Given the description of an element on the screen output the (x, y) to click on. 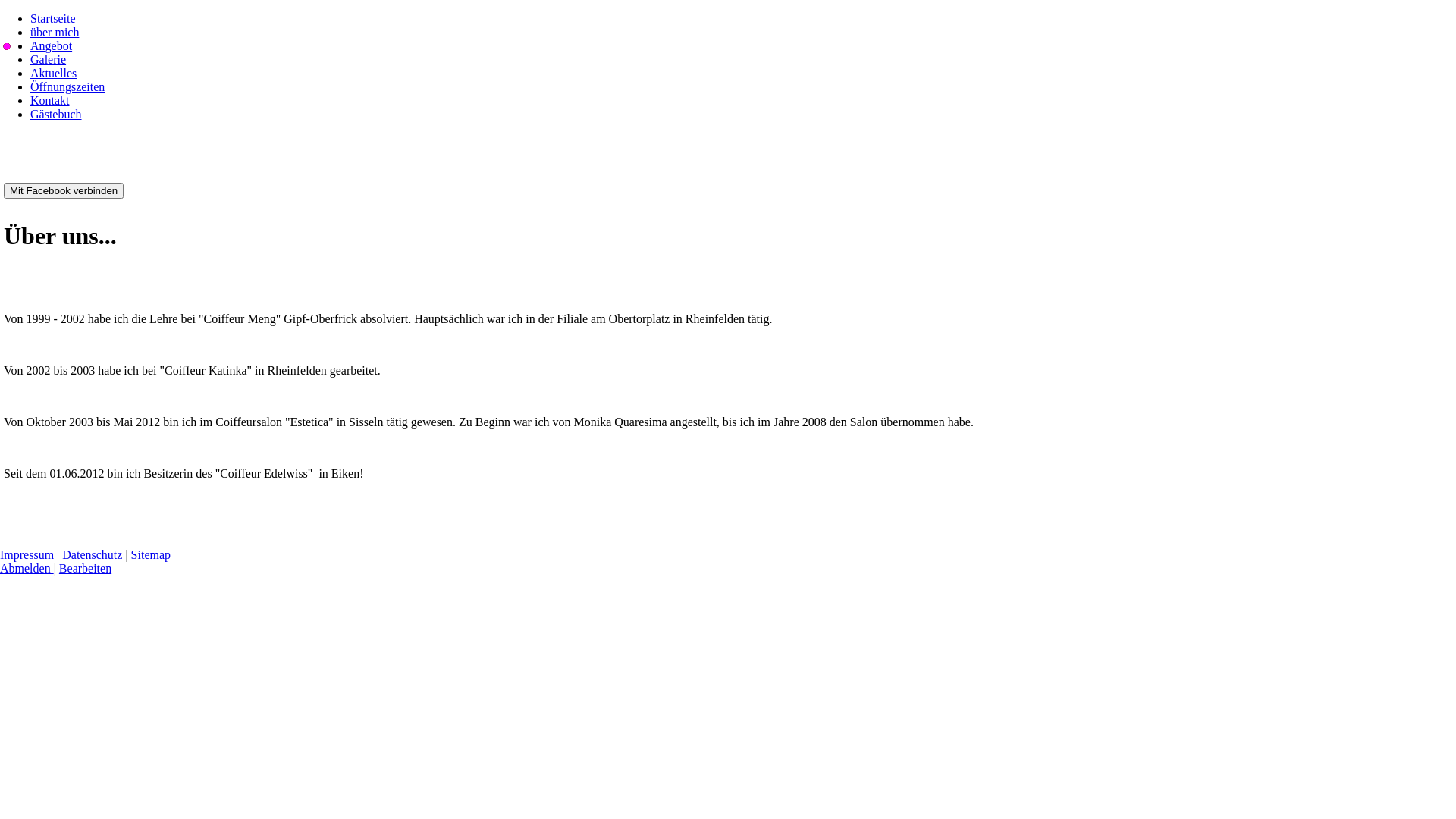
Mit Facebook verbinden Element type: text (63, 190)
Galerie Element type: text (47, 59)
Abmelden Element type: text (26, 567)
Datenschutz Element type: text (92, 554)
Angebot Element type: text (51, 45)
Aktuelles Element type: text (53, 72)
Startseite Element type: text (52, 18)
Kontakt Element type: text (49, 100)
Impressum Element type: text (26, 554)
Sitemap Element type: text (150, 554)
Bearbeiten Element type: text (85, 567)
